Given the description of an element on the screen output the (x, y) to click on. 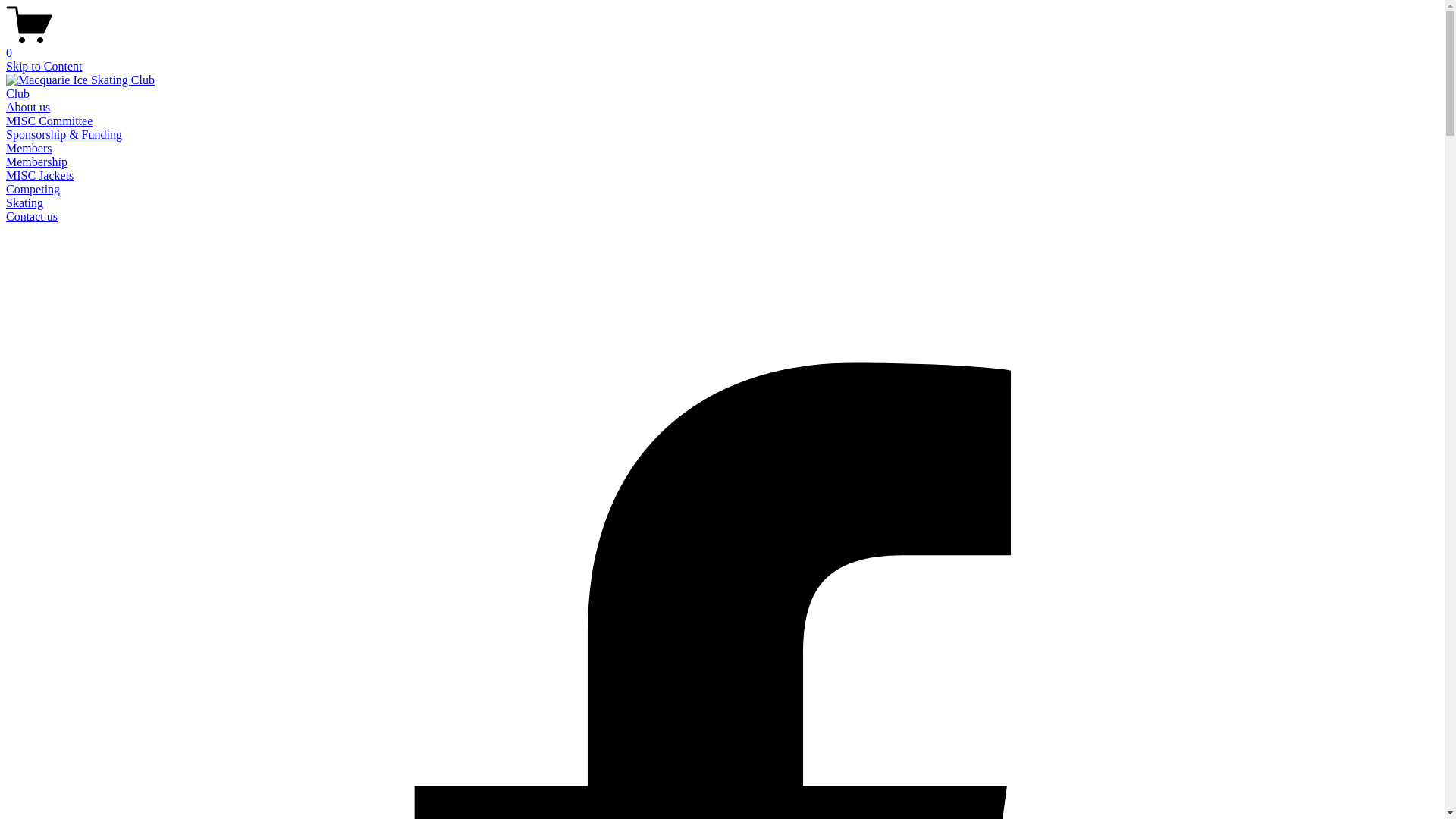
Competing Element type: text (32, 188)
0 Element type: text (722, 45)
Members Element type: text (28, 147)
Skip to Content Element type: text (43, 65)
Skating Element type: text (24, 202)
Contact us Element type: text (31, 216)
MISC Committee Element type: text (49, 120)
Sponsorship & Funding Element type: text (64, 134)
MISC Jackets Element type: text (39, 175)
About us Element type: text (28, 106)
Club Element type: text (17, 93)
Membership Element type: text (36, 161)
